Given the description of an element on the screen output the (x, y) to click on. 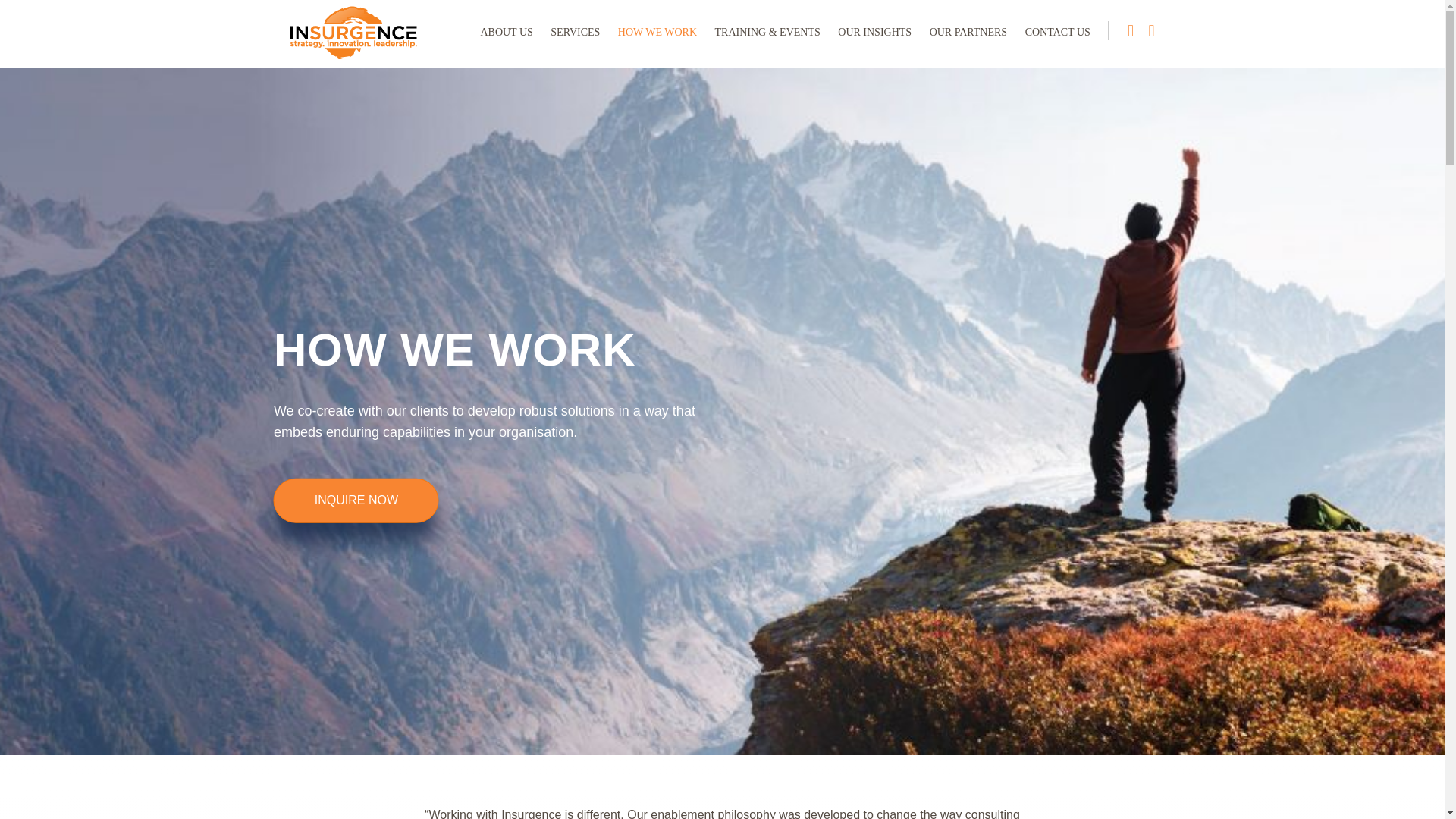
OUR PARTNERS (967, 33)
SERVICES (575, 33)
INQUIRE NOW (356, 499)
INQUIRE NOW (356, 499)
CONTACT US (1057, 33)
ABOUT US (505, 33)
OUR INSIGHTS (873, 33)
HOW WE WORK (657, 33)
